Given the description of an element on the screen output the (x, y) to click on. 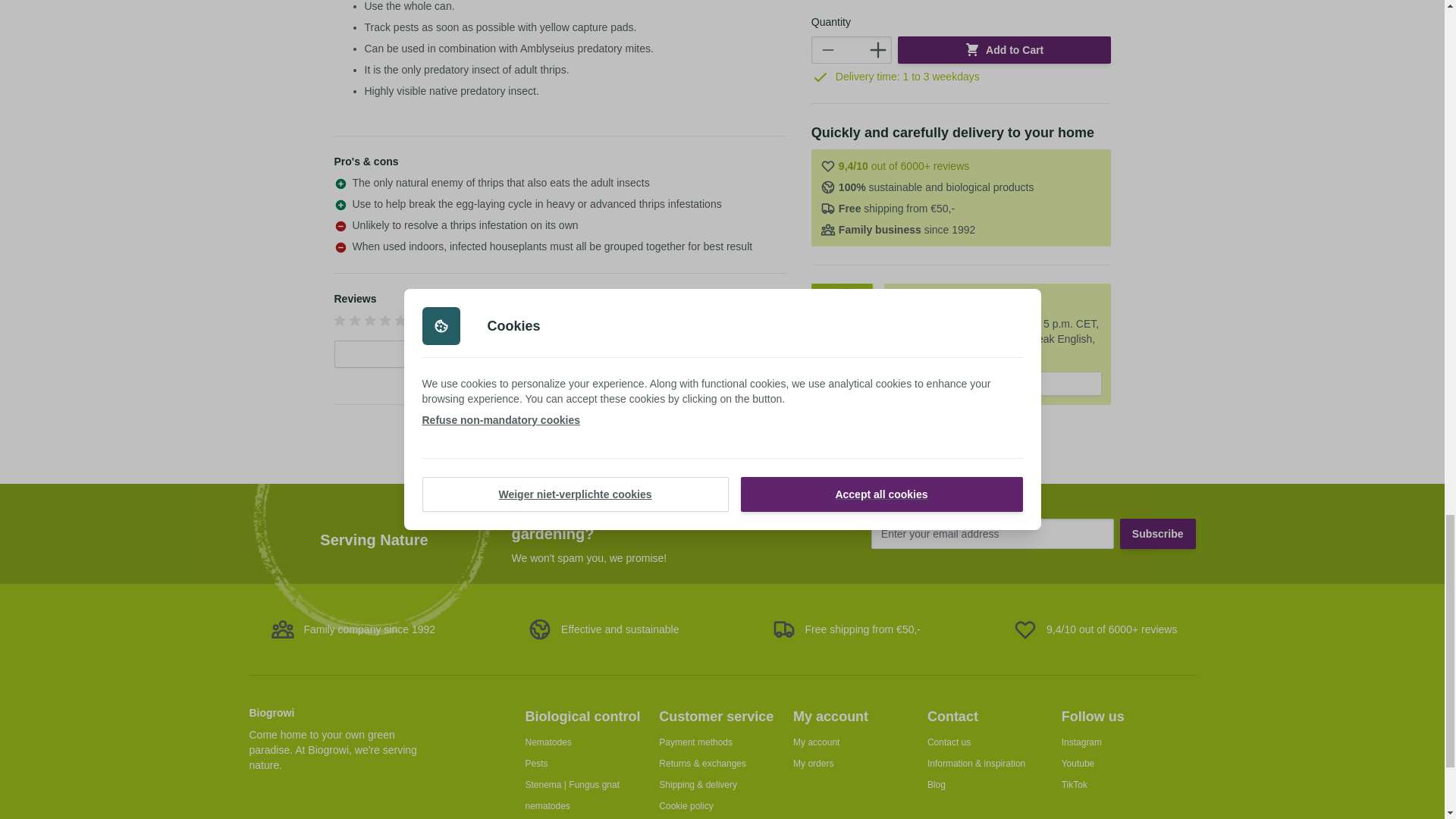
Be the first to review this product (371, 320)
